Given the description of an element on the screen output the (x, y) to click on. 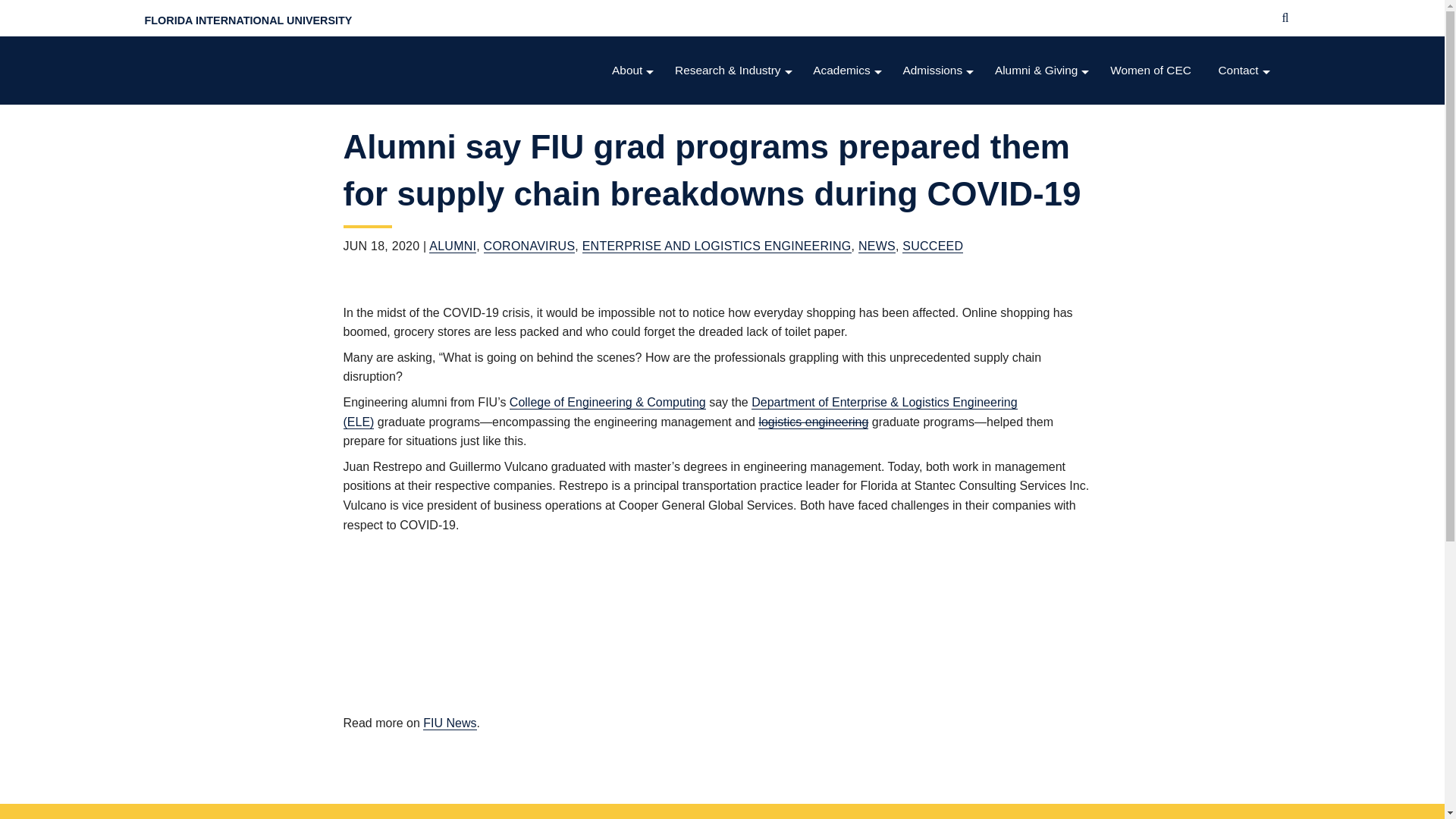
Endowed Gifts (1042, 162)
About (633, 70)
Highlighted Research Areas (734, 100)
Research Portal (734, 283)
College Administration (633, 162)
Faculty and Staff Positions (848, 313)
Student Success and Empowerment (848, 253)
Student Resources (848, 192)
Ignite Campaign (1042, 223)
College Directory (633, 192)
Continuing Education (848, 162)
Preeminent Programs (734, 162)
Technologies Available for Licensing (734, 131)
Points of Pride (633, 131)
College Policies (633, 283)
